Given the description of an element on the screen output the (x, y) to click on. 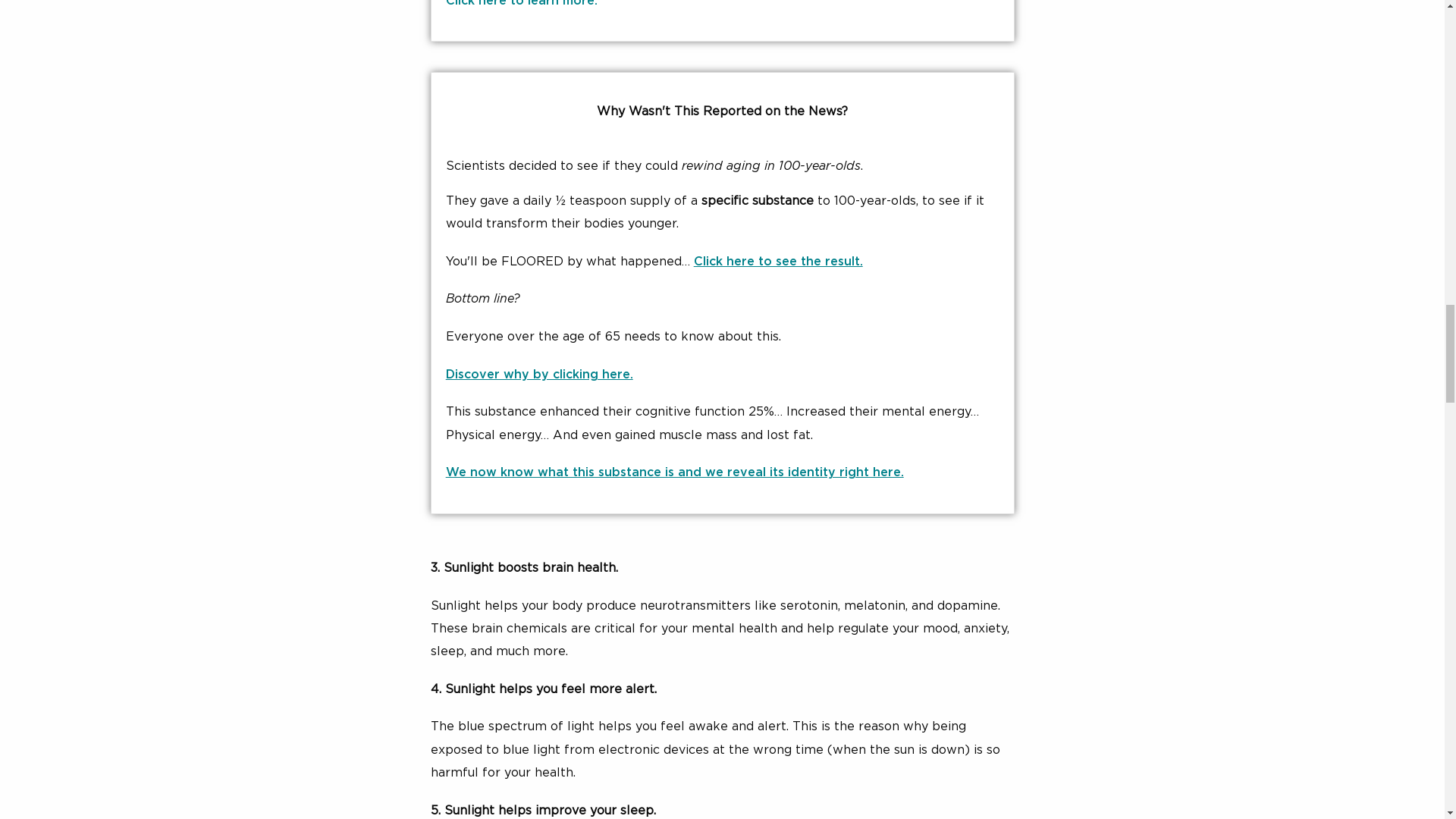
Click here to learn more. (520, 3)
Click here to see the result. (778, 261)
Discover why by clicking here. (539, 374)
